Given the description of an element on the screen output the (x, y) to click on. 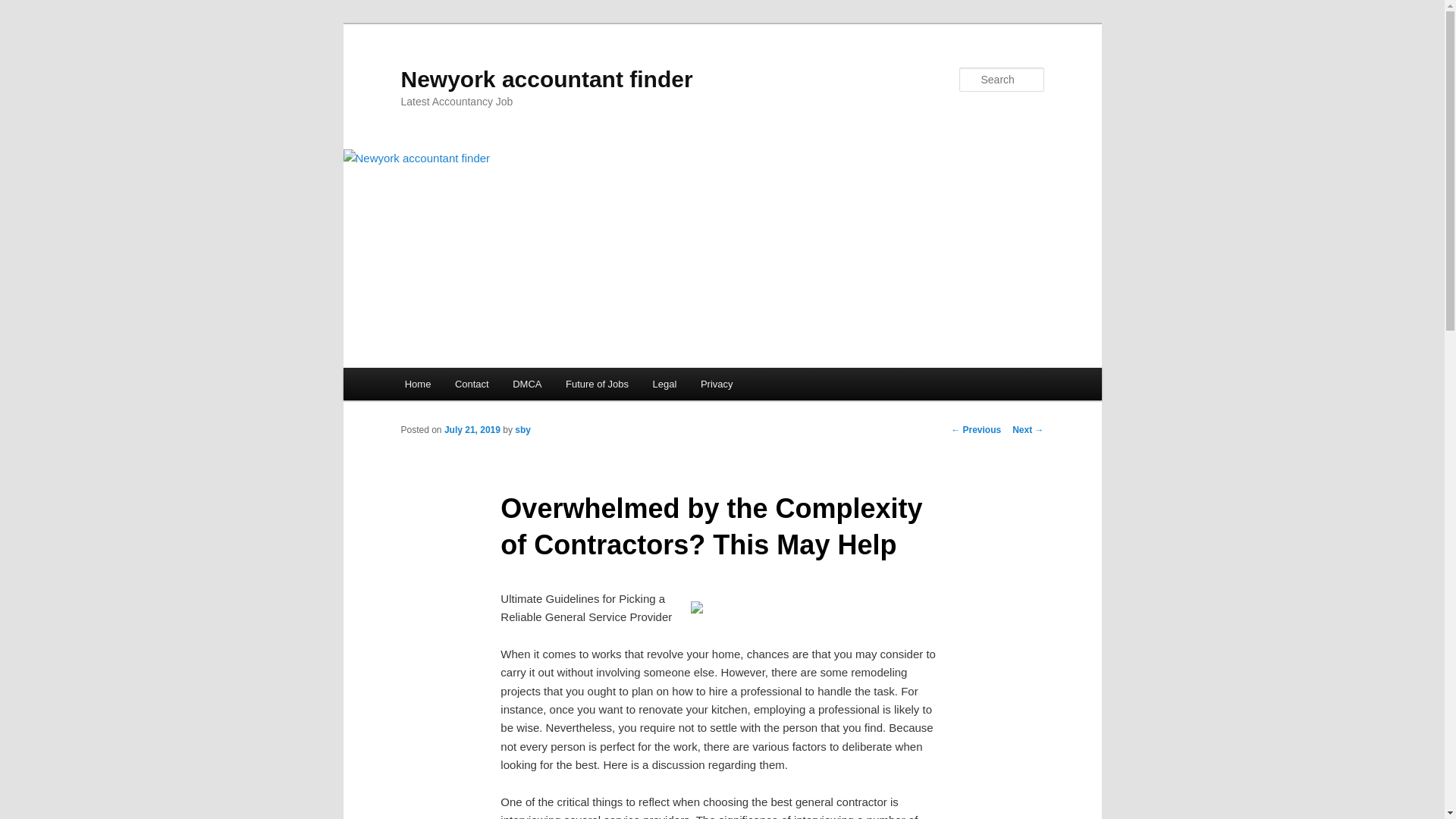
Search (24, 8)
Privacy (716, 383)
Future of Jobs (596, 383)
View all posts by sby (523, 429)
sby (523, 429)
Newyork accountant finder (546, 78)
Contact (471, 383)
July 21, 2019 (472, 429)
Legal (664, 383)
